Given the description of an element on the screen output the (x, y) to click on. 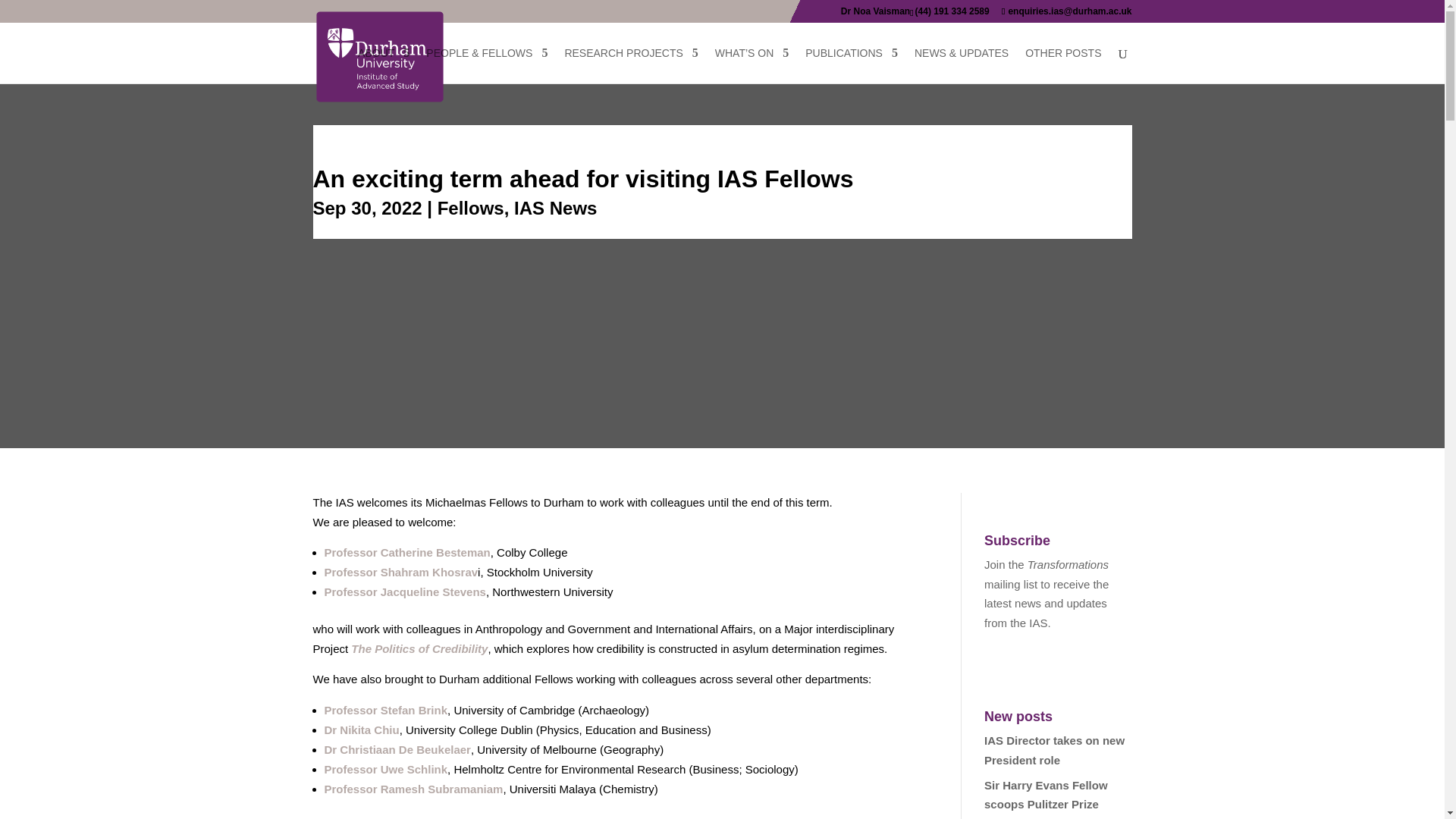
RESEARCH PROJECTS (630, 65)
Dr Noa Vaisman (875, 14)
ABOUT (383, 65)
PUBLICATIONS (851, 65)
